Given the description of an element on the screen output the (x, y) to click on. 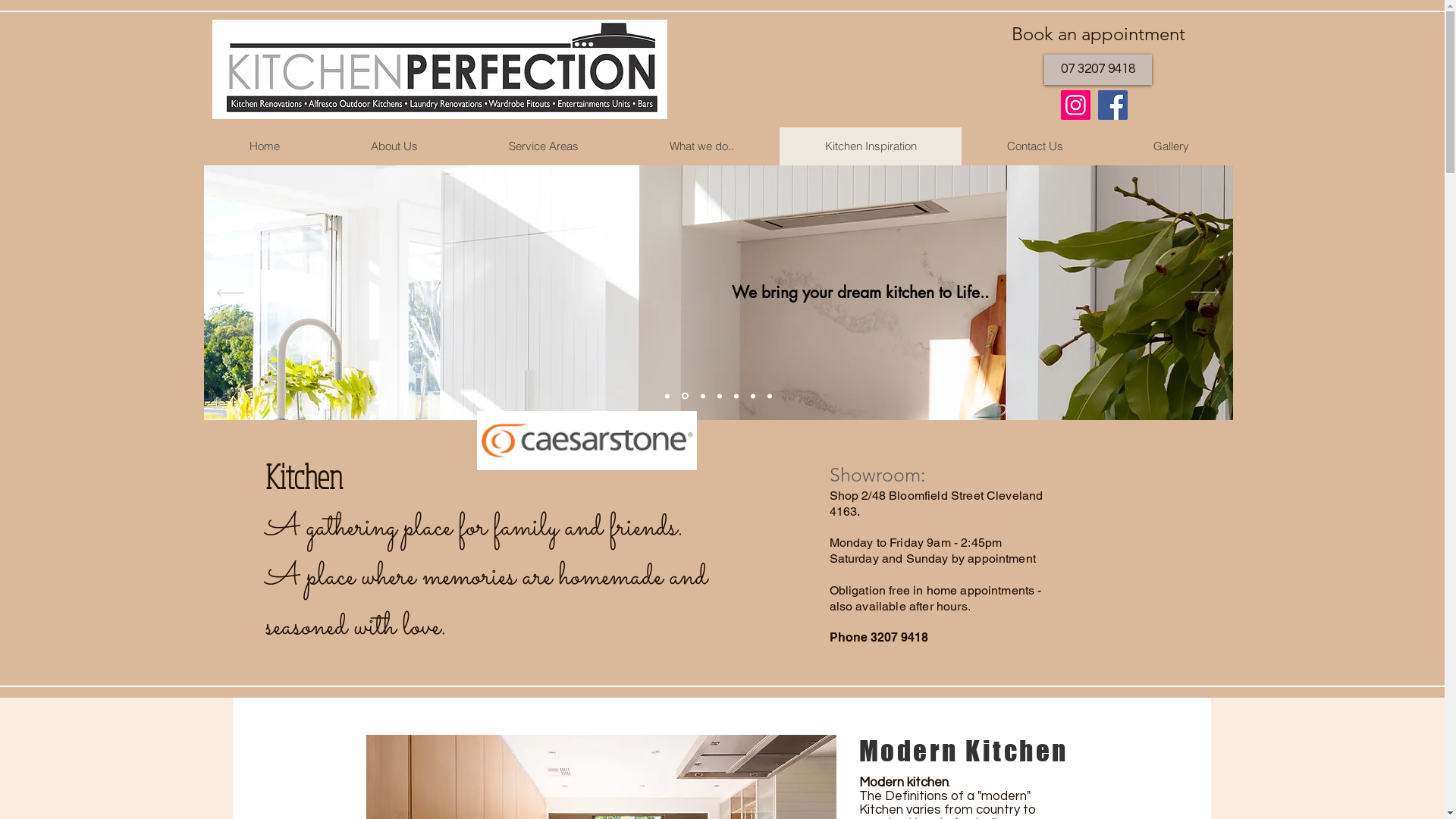
About Us Element type: text (393, 146)
Service Areas Element type: text (542, 146)
FrameLogoKPQ.jpg Element type: hover (439, 69)
Home Element type: text (264, 146)
Caesarstone.png Element type: hover (586, 440)
Book an appointment Element type: text (1098, 33)
What we do.. Element type: text (700, 146)
Contact Us Element type: text (1034, 146)
Gallery Element type: text (1170, 146)
Kitchen Inspiration Element type: text (870, 146)
